Given the description of an element on the screen output the (x, y) to click on. 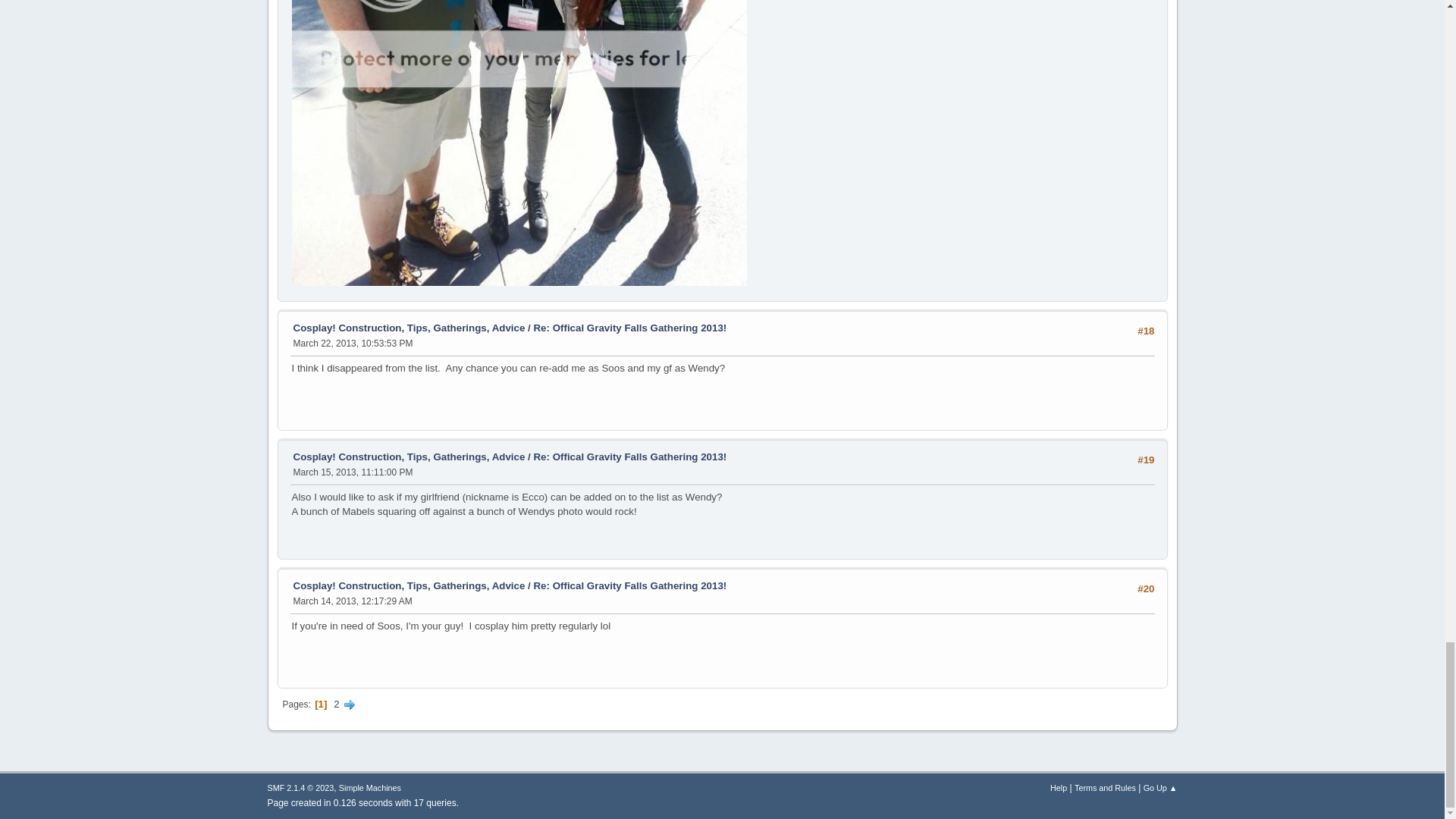
Simple Machines (370, 787)
License (299, 787)
